Given the description of an element on the screen output the (x, y) to click on. 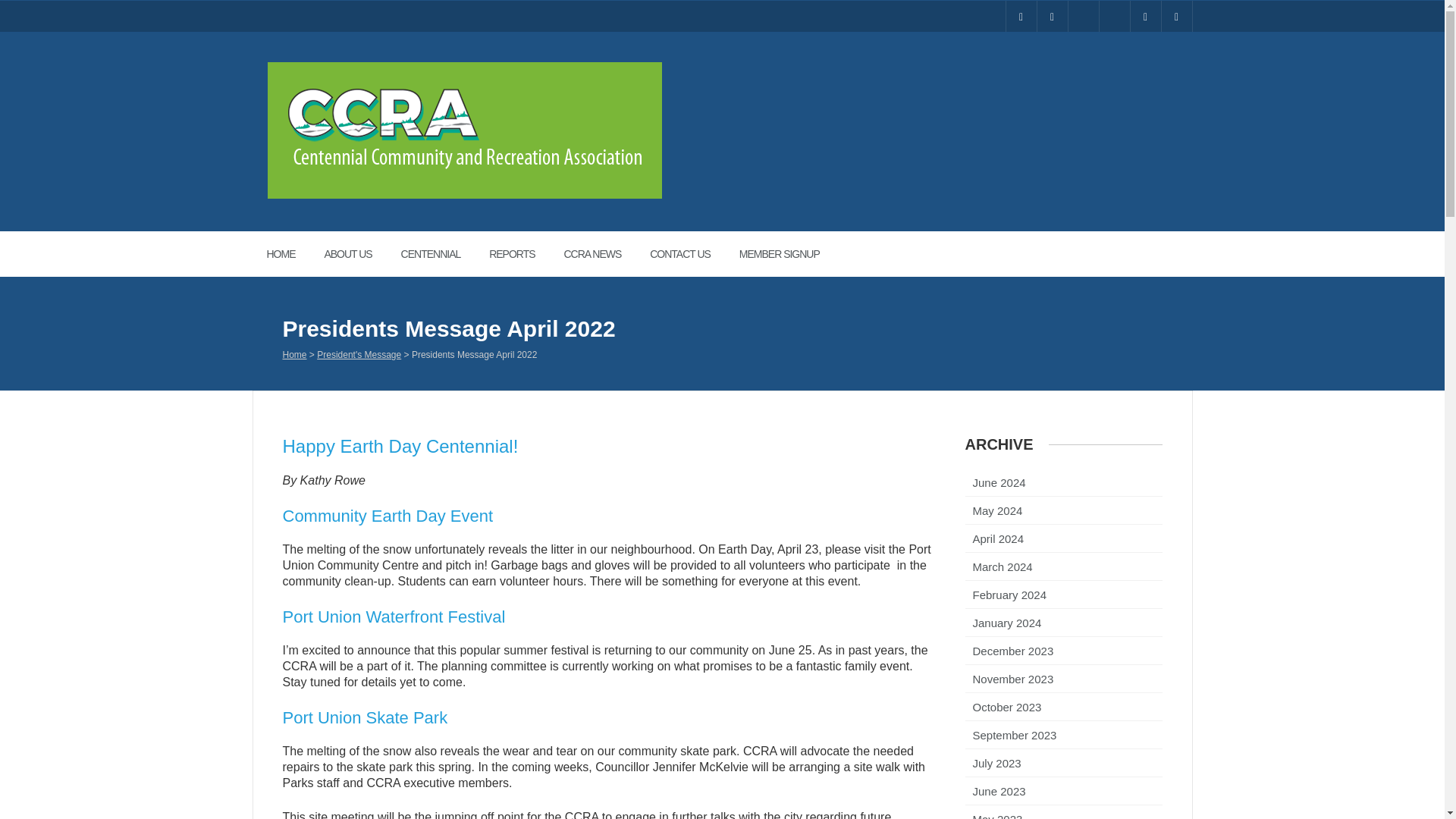
Home (293, 356)
REPORTS (511, 253)
ABOUT US (346, 253)
CONTACT US (679, 253)
MEMBER SIGNUP (779, 253)
Search (22, 8)
Instagram (1051, 15)
Facebook (1020, 15)
President's Message (359, 356)
CCRA NEWS (591, 253)
CENTENNIAL (431, 253)
HOME (279, 253)
